Given the description of an element on the screen output the (x, y) to click on. 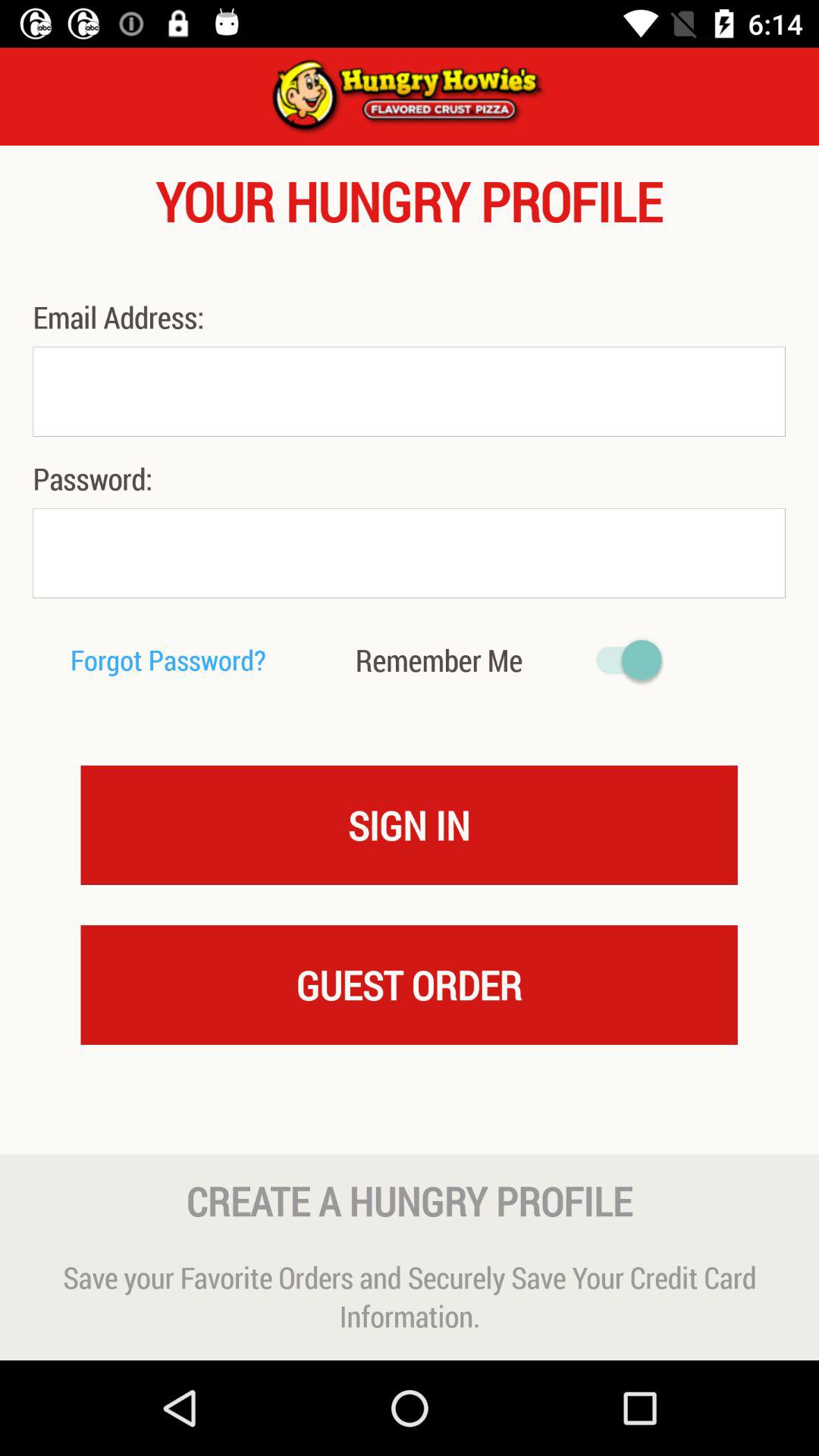
press the icon above guest order item (409, 824)
